Given the description of an element on the screen output the (x, y) to click on. 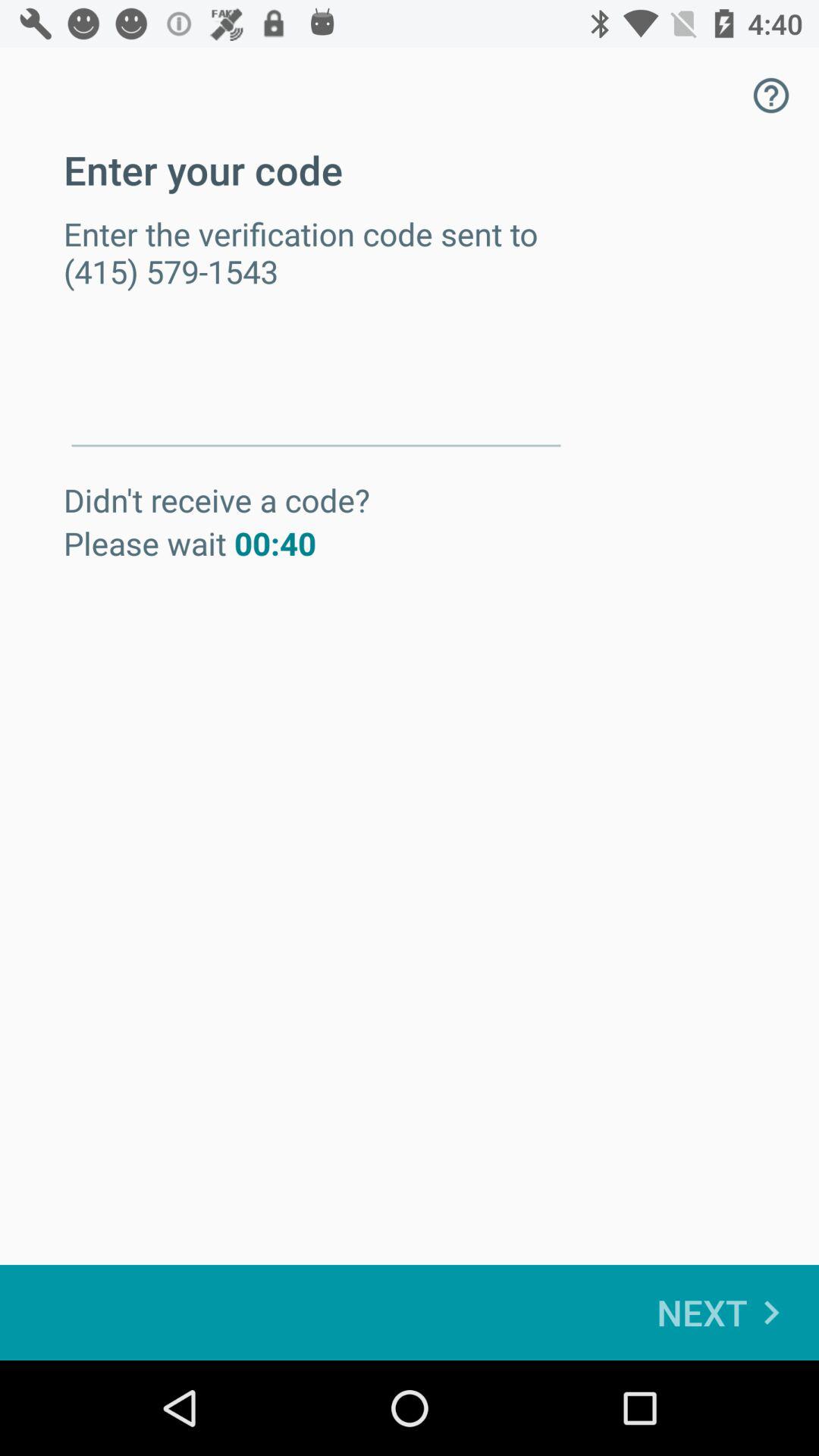
tap the icon next to enter your code (771, 95)
